Given the description of an element on the screen output the (x, y) to click on. 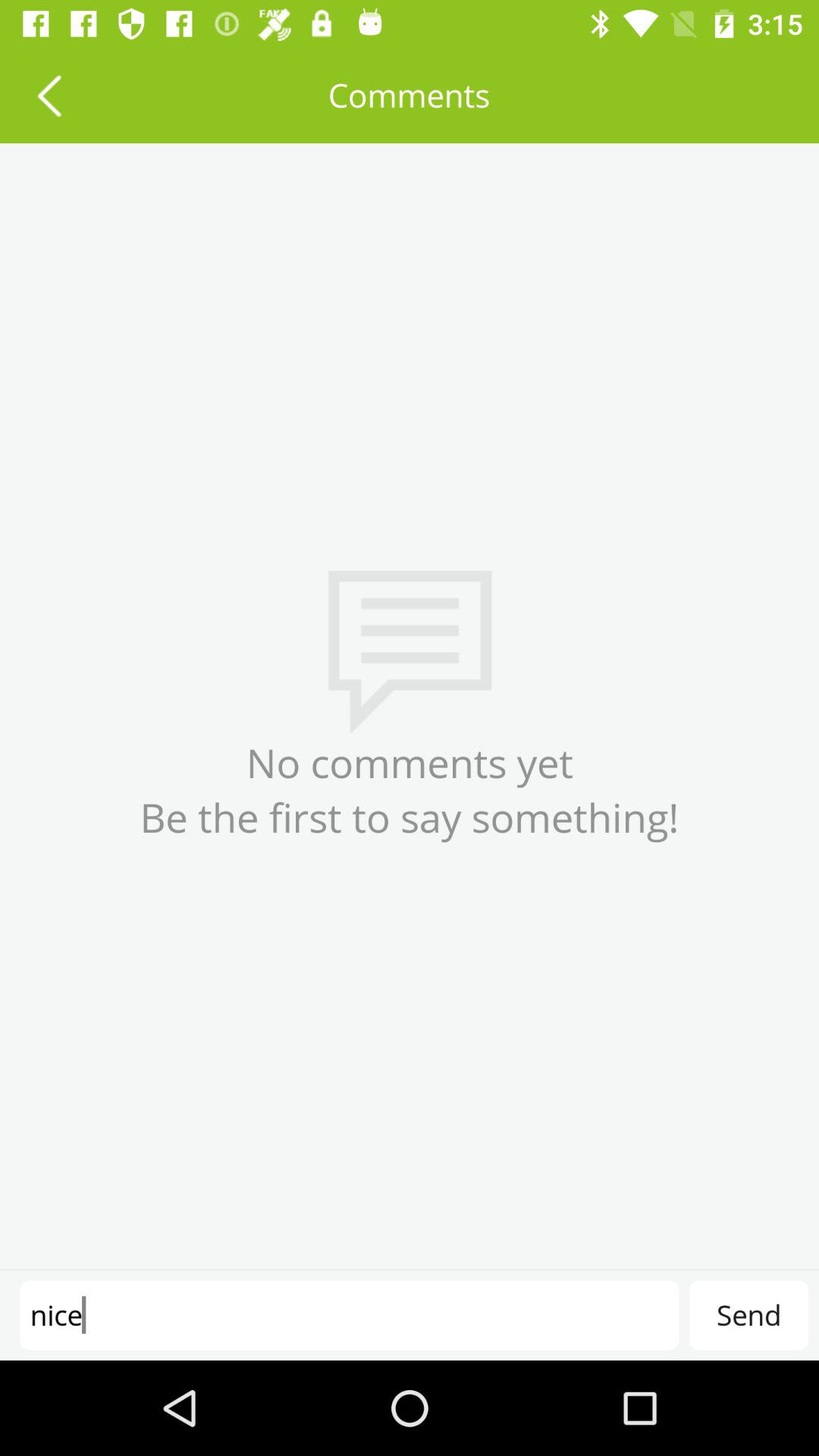
go to previous page (48, 95)
